Given the description of an element on the screen output the (x, y) to click on. 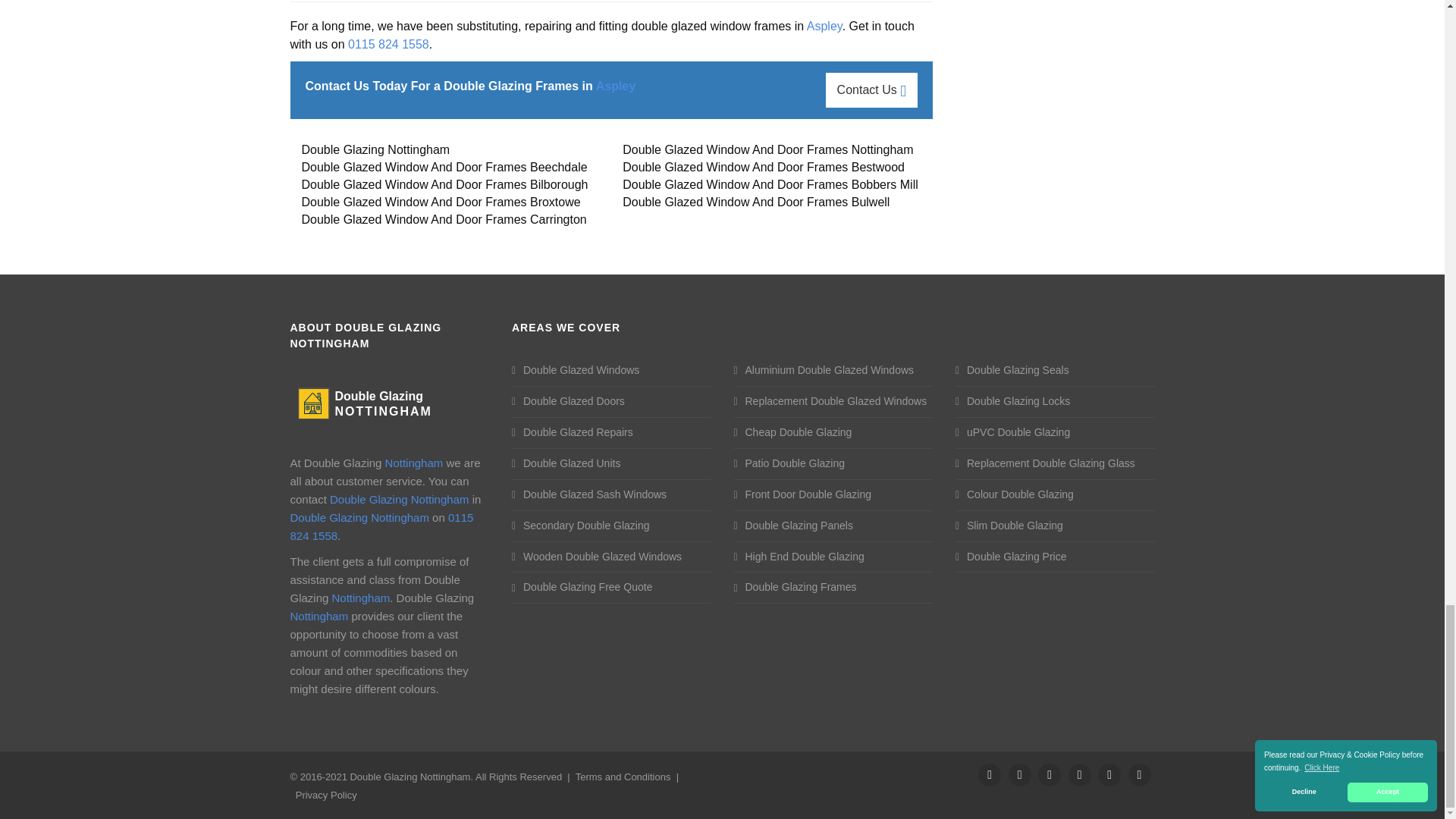
Double Glazing Nottingham (365, 401)
